Given the description of an element on the screen output the (x, y) to click on. 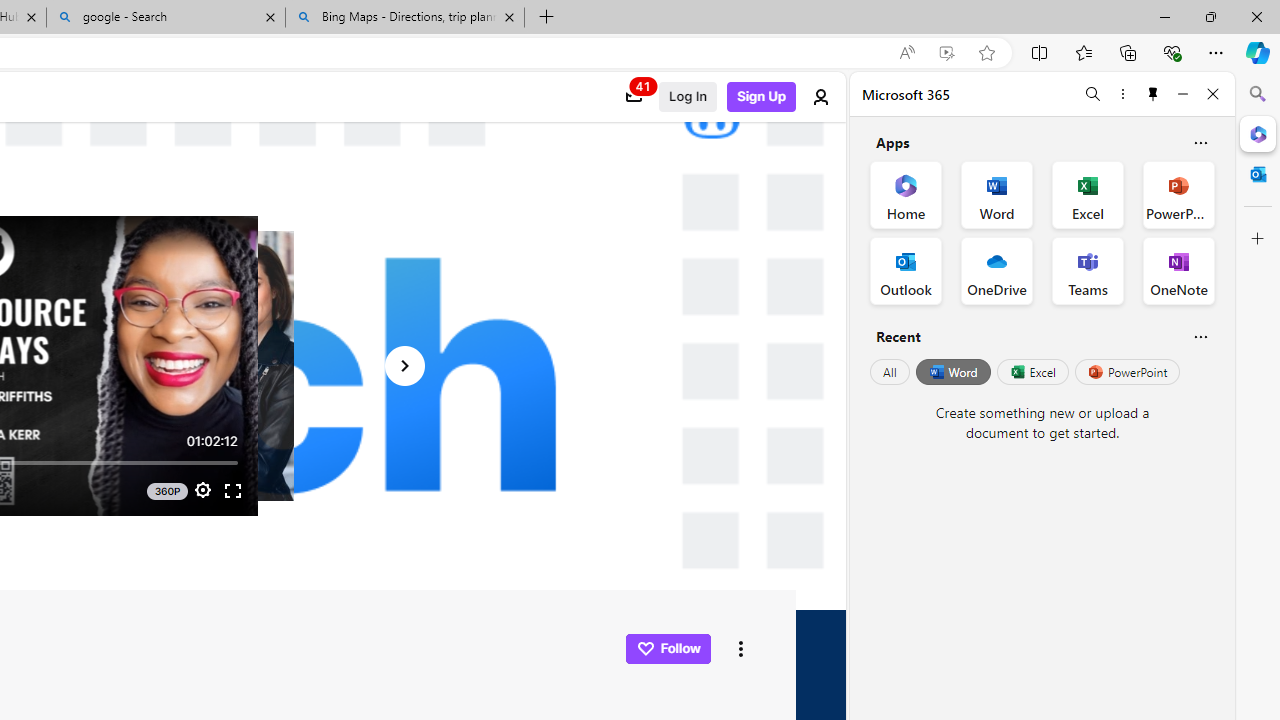
Home Office App (906, 194)
OneDrive Office App (996, 270)
Prime offers (634, 97)
User Menu (821, 97)
Outlook Office App (906, 270)
Word Office App (996, 194)
Teams Office App (1087, 270)
